Given the description of an element on the screen output the (x, y) to click on. 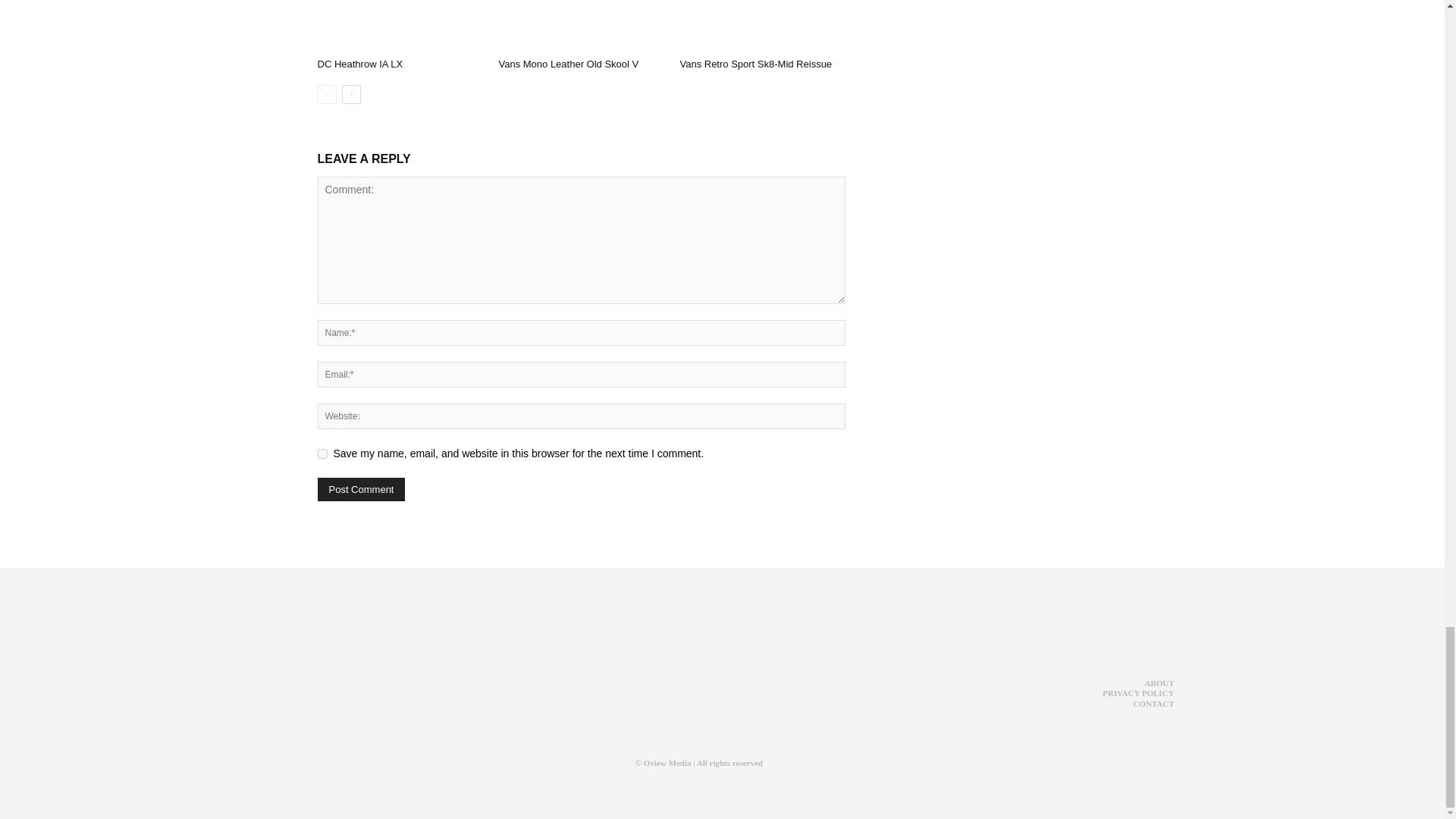
Post Comment (360, 489)
yes (321, 453)
